Given the description of an element on the screen output the (x, y) to click on. 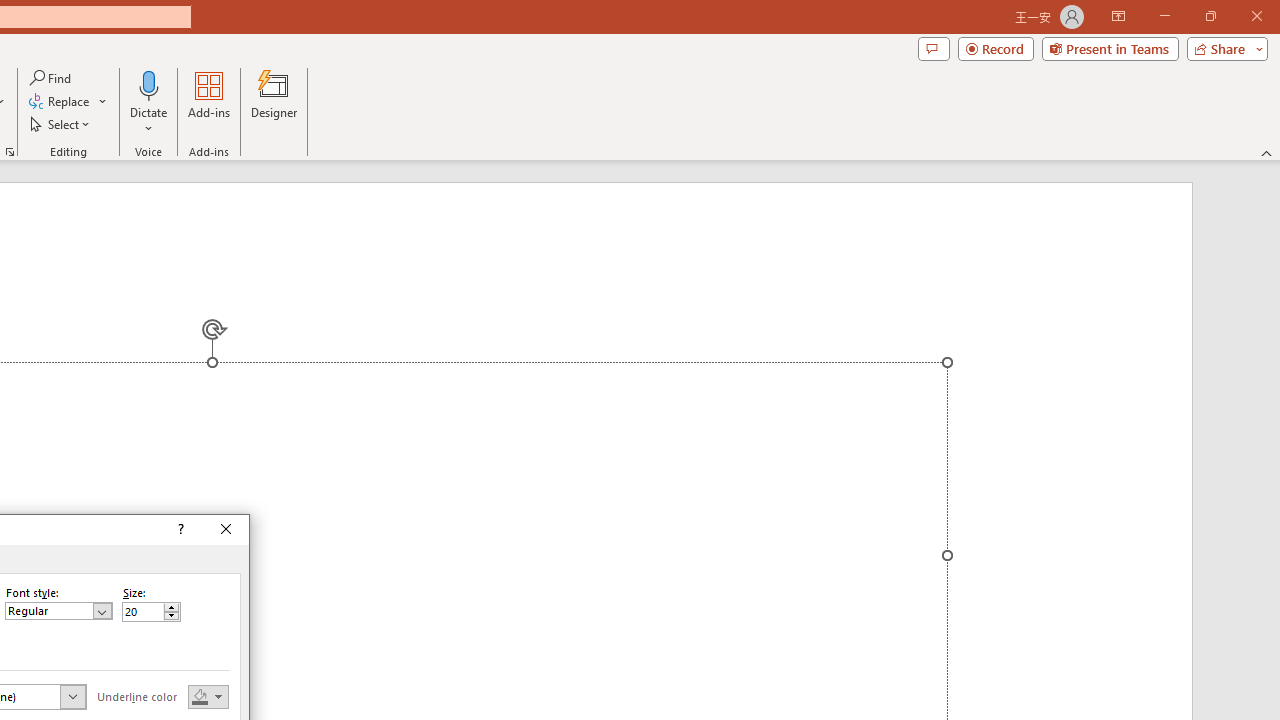
Context help (179, 529)
Underline color (208, 696)
